Given the description of an element on the screen output the (x, y) to click on. 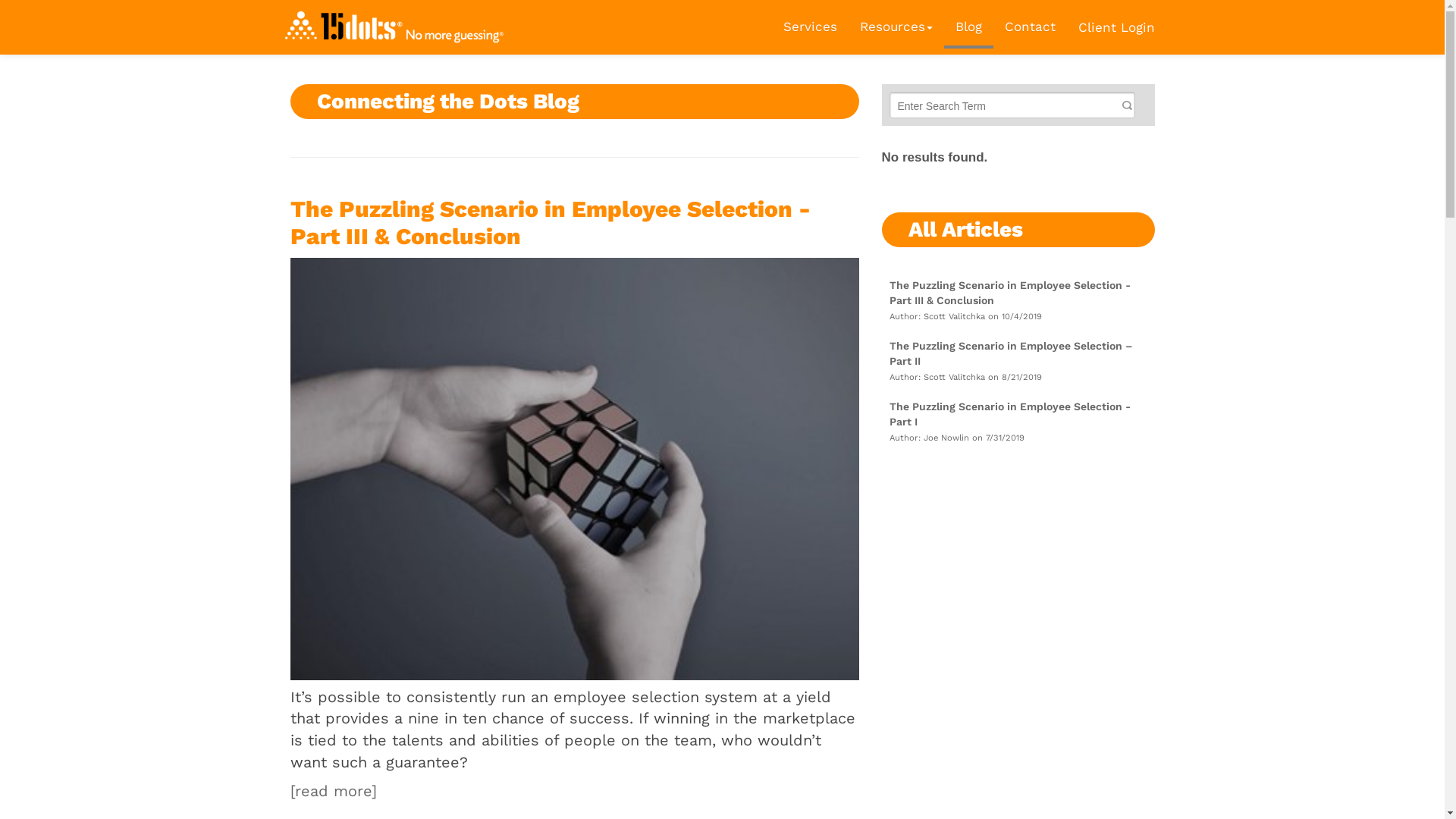
Services Element type: text (809, 26)
Resources Element type: text (895, 26)
Blog Element type: text (967, 26)
Client Login Element type: text (1115, 25)
Contact Element type: text (1029, 26)
